Given the description of an element on the screen output the (x, y) to click on. 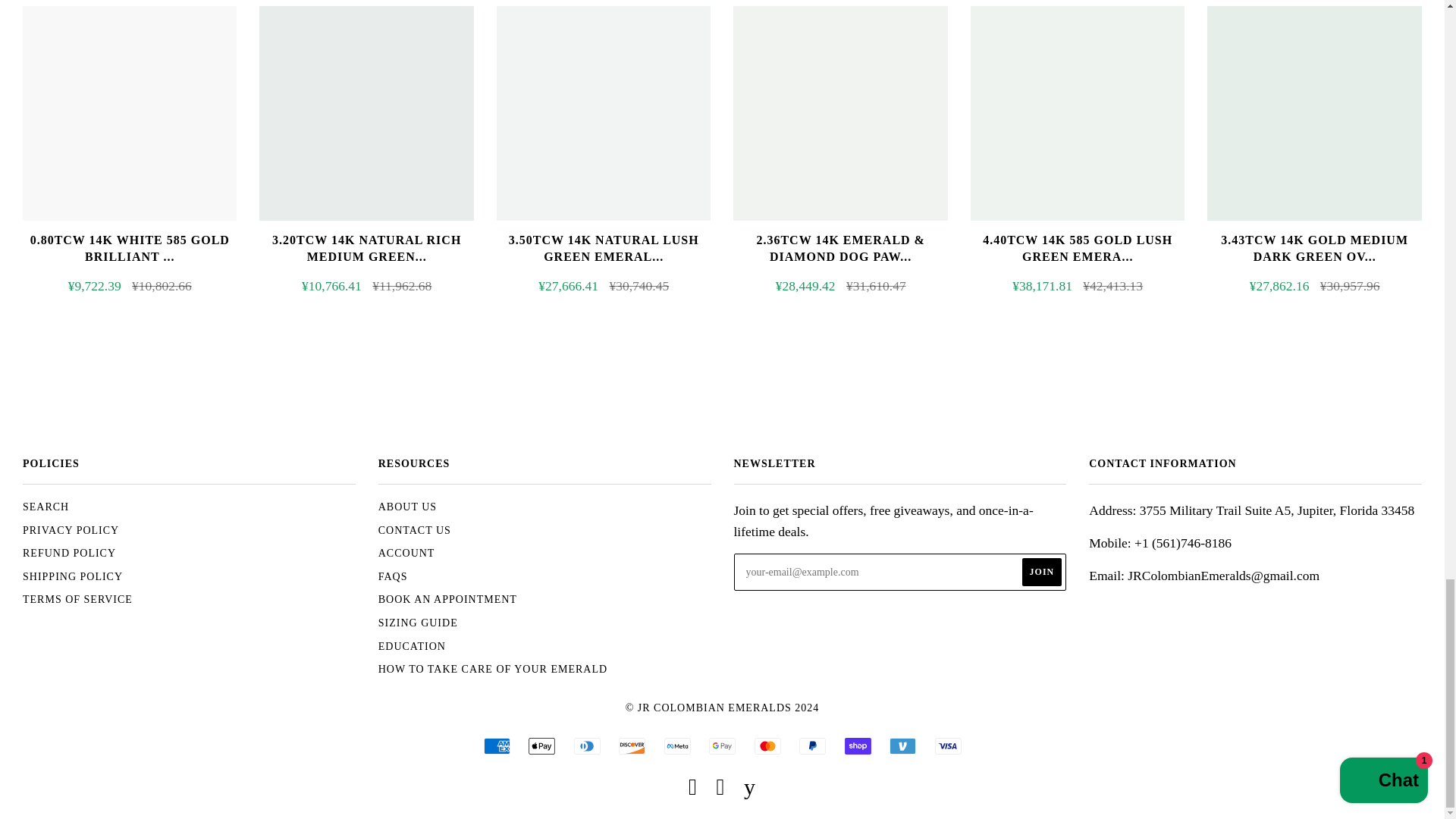
Join (1042, 571)
JR Colombian Emeralds on Youtube (749, 790)
MASTERCARD (767, 745)
VENMO (902, 745)
AMERICAN EXPRESS (497, 745)
VISA (947, 745)
SHOP PAY (857, 745)
APPLE PAY (541, 745)
DINERS CLUB (586, 745)
PAYPAL (812, 745)
GOOGLE PAY (722, 745)
DISCOVER (631, 745)
META PAY (676, 745)
